Given the description of an element on the screen output the (x, y) to click on. 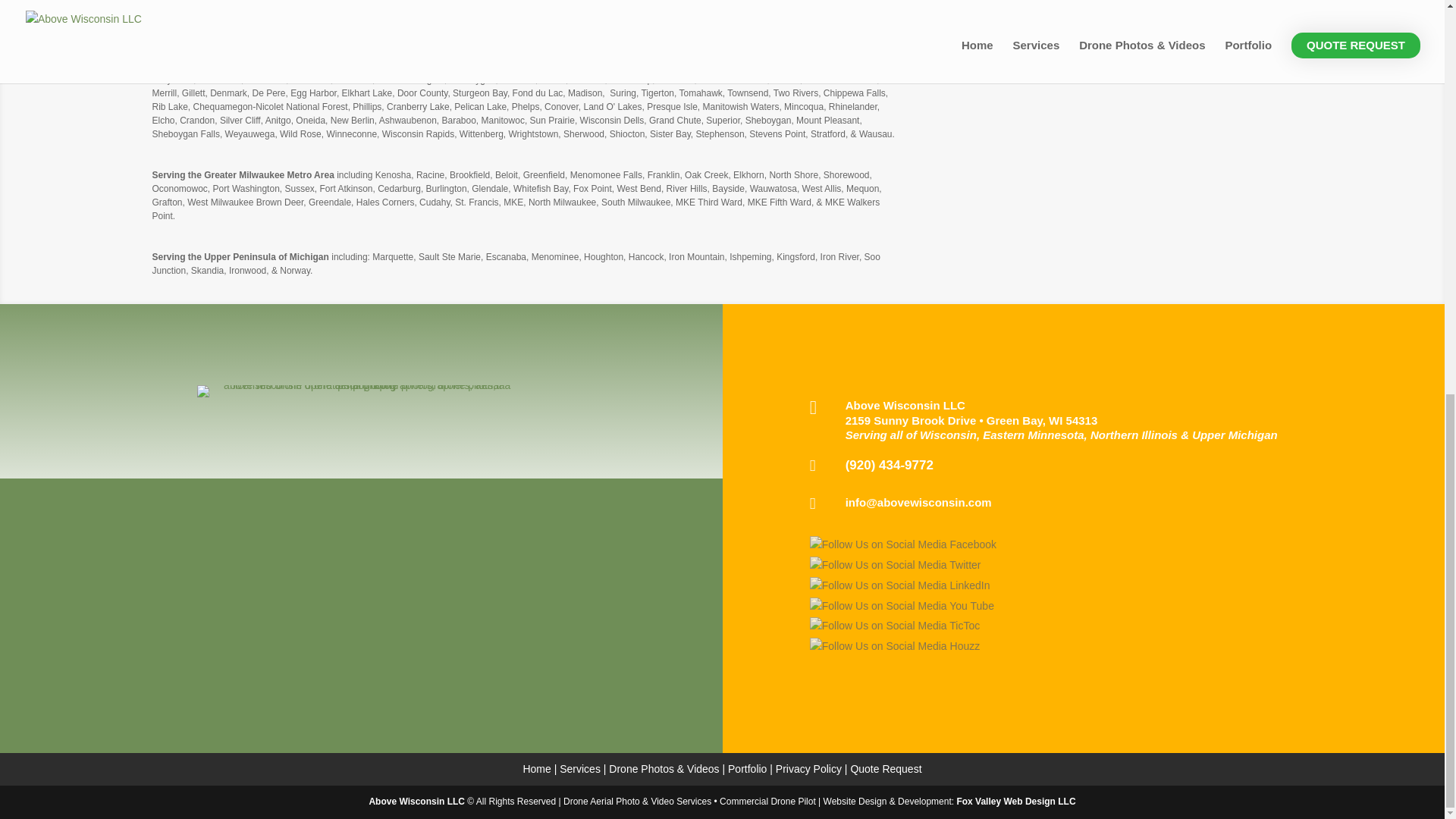
Follow Us on Social Media LinkedIn (899, 586)
Home (536, 768)
Services (579, 768)
Fox Valley Web Design LLC (1015, 801)
Follow Us on Social Media TicToc (894, 626)
Privacy Policy (808, 768)
Above Wisconsin LLC (417, 801)
Portfolio (747, 768)
Follow Us on Social Media You Tube (901, 606)
Follow Us on Social Media Twitter (895, 565)
